Given the description of an element on the screen output the (x, y) to click on. 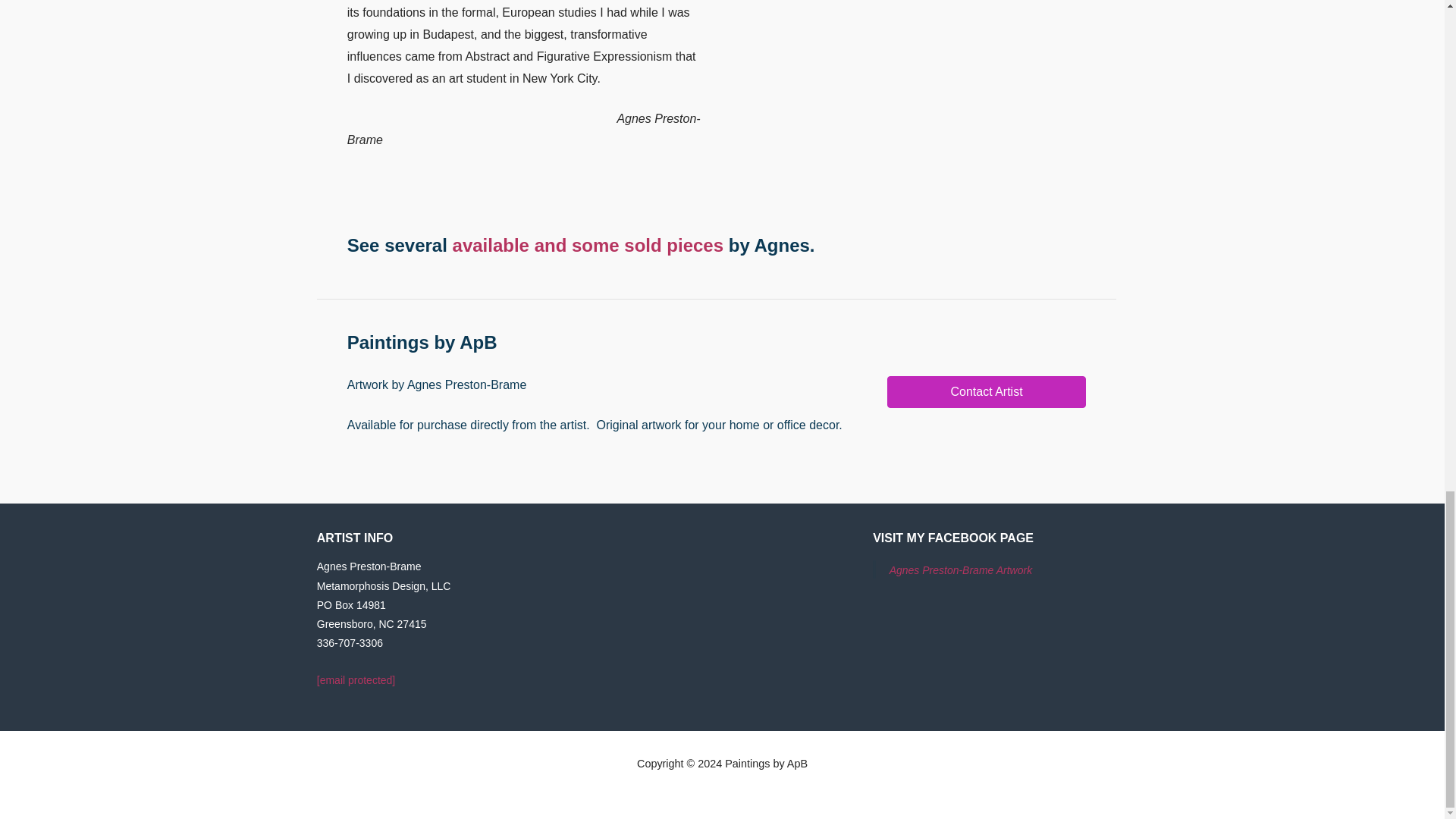
Contact Artist (986, 391)
Agnes Preston-Brame Artwork (960, 570)
available and some sold pieces (587, 245)
